Given the description of an element on the screen output the (x, y) to click on. 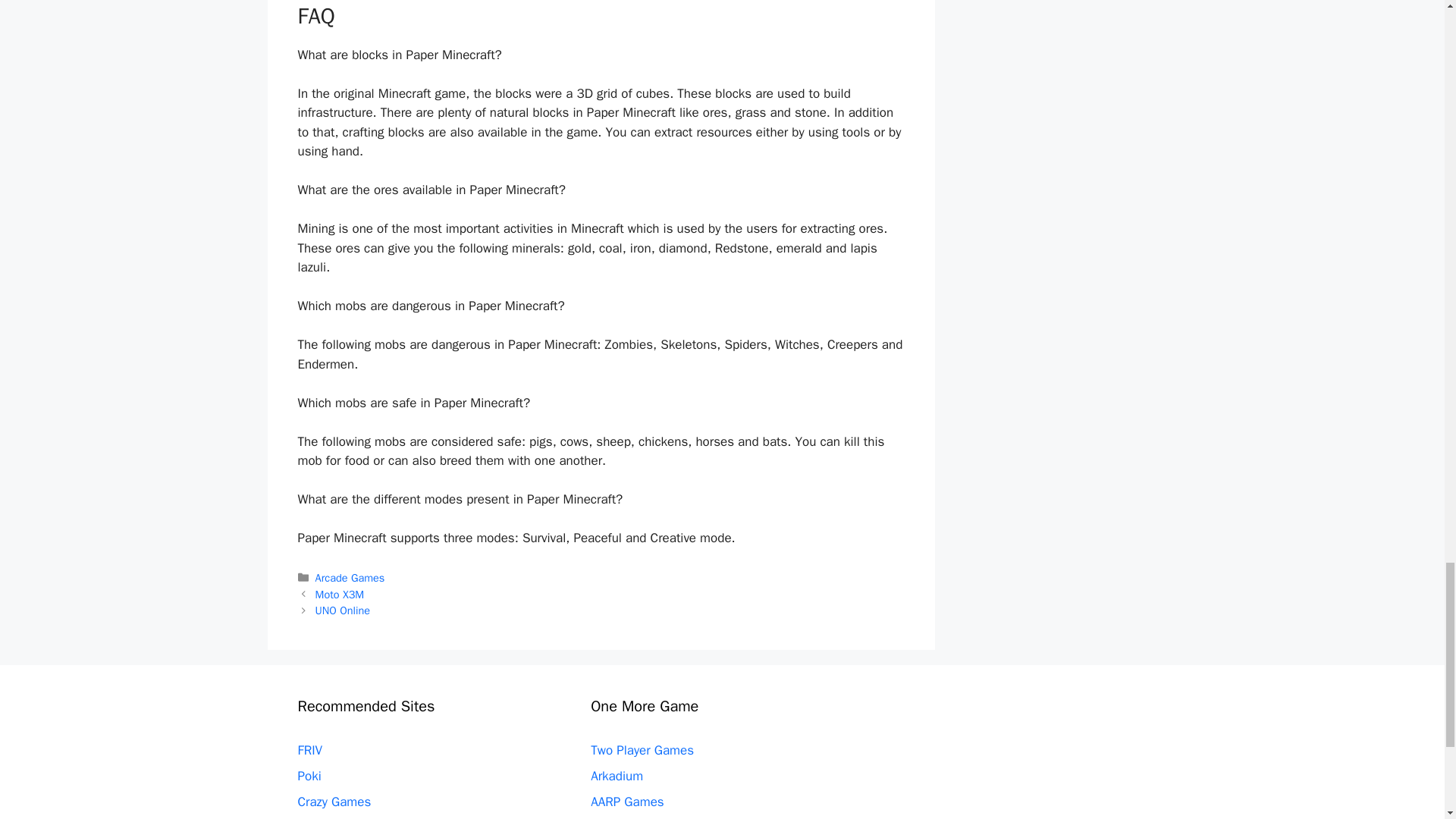
Poki (308, 775)
AARP Games (627, 801)
Crazy Games (334, 801)
FRIV (309, 750)
UNO Online (342, 610)
Moto X3M (340, 594)
Arkadium (617, 775)
Next (342, 610)
Previous (340, 594)
Arcade Games (350, 577)
Two Player Games (642, 750)
